Given the description of an element on the screen output the (x, y) to click on. 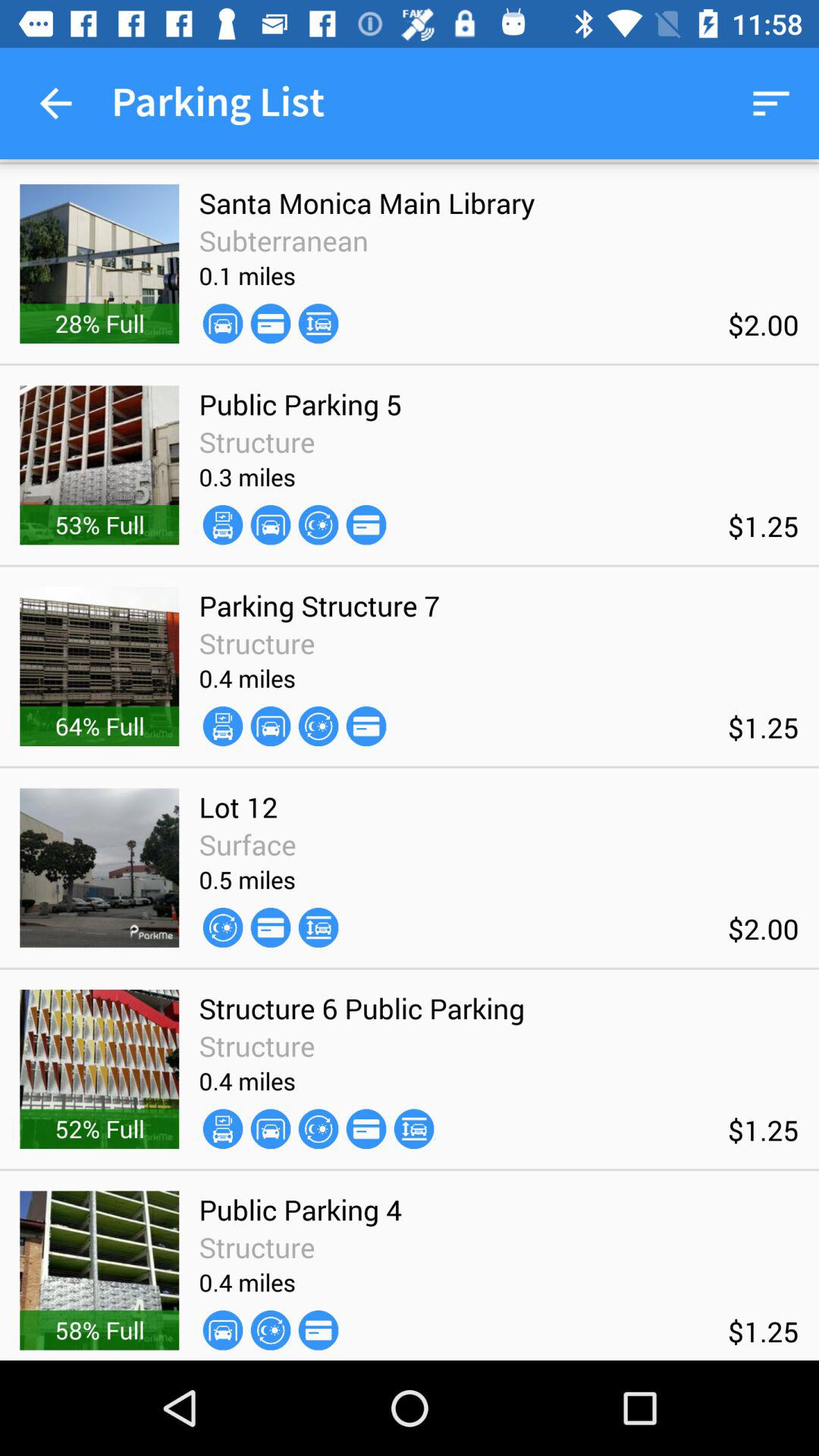
open the icon above 0.1 miles item (283, 240)
